Given the description of an element on the screen output the (x, y) to click on. 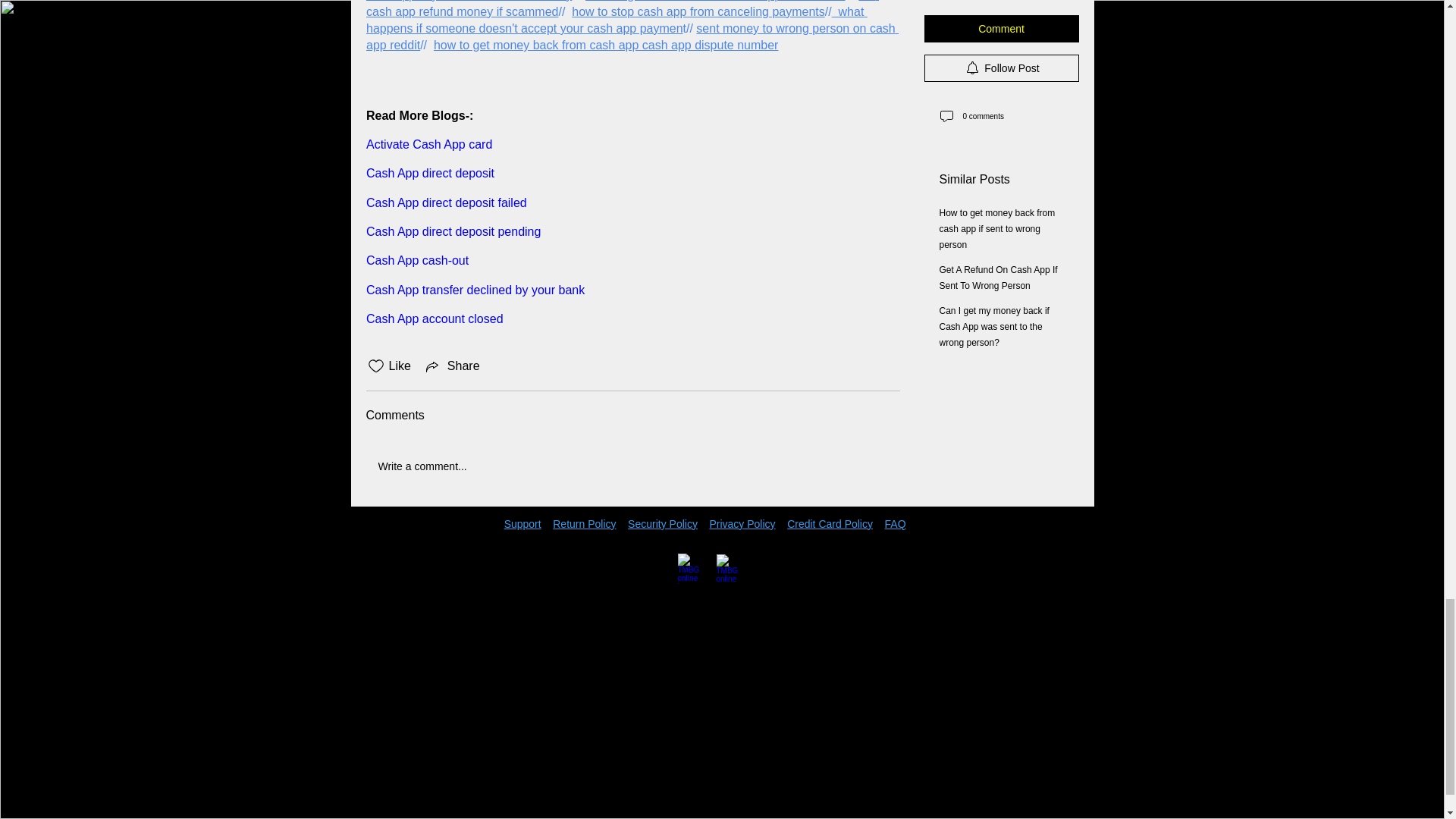
TMBG Online Bass Guitar Lessons Twitter (730, 568)
Facebook Like (398, 545)
TMBG Online Bass Guitar Lessons Facebook (692, 568)
